Given the description of an element on the screen output the (x, y) to click on. 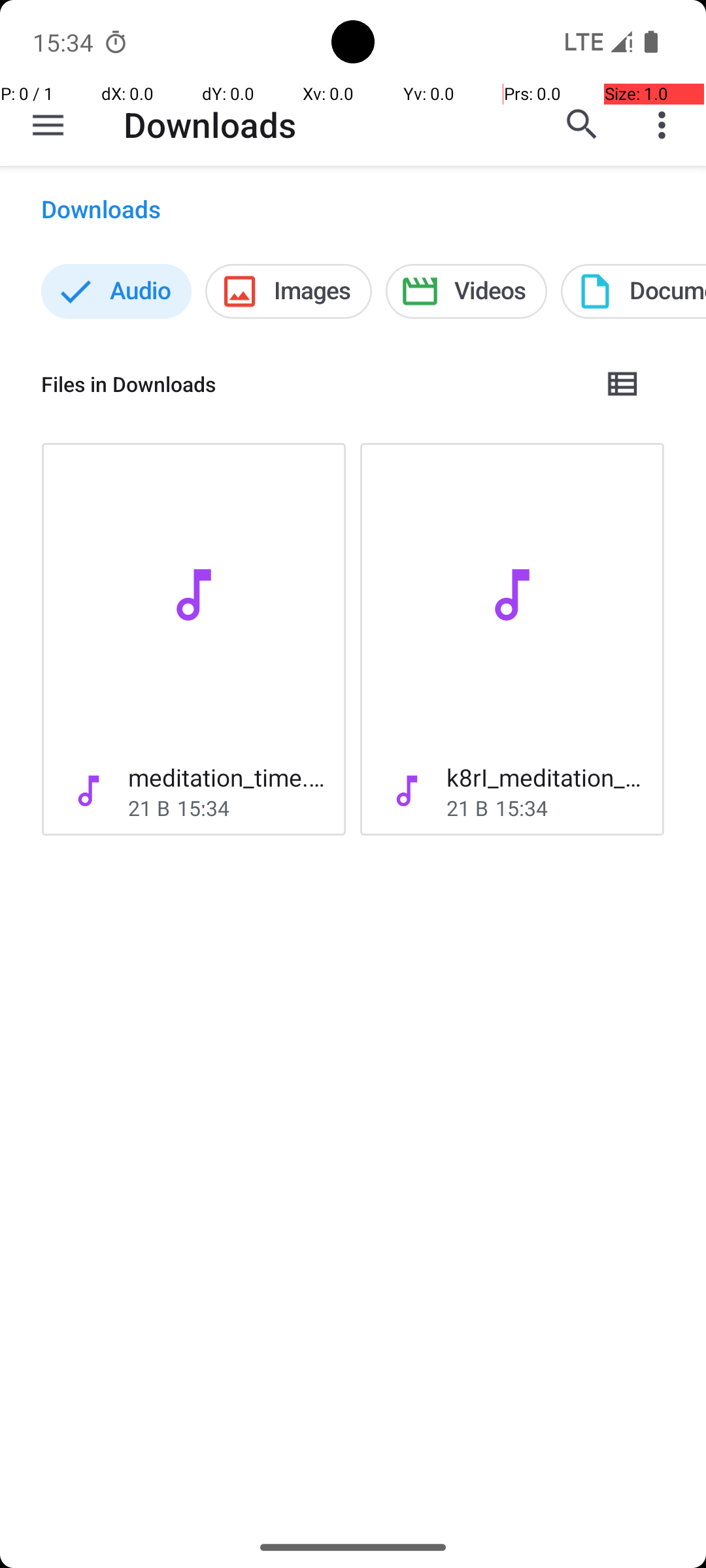
meditation_time.mp3 Element type: android.widget.TextView (226, 776)
21 B Element type: android.widget.TextView (148, 807)
k8rI_meditation_time.mp3 Element type: android.widget.TextView (544, 776)
